Given the description of an element on the screen output the (x, y) to click on. 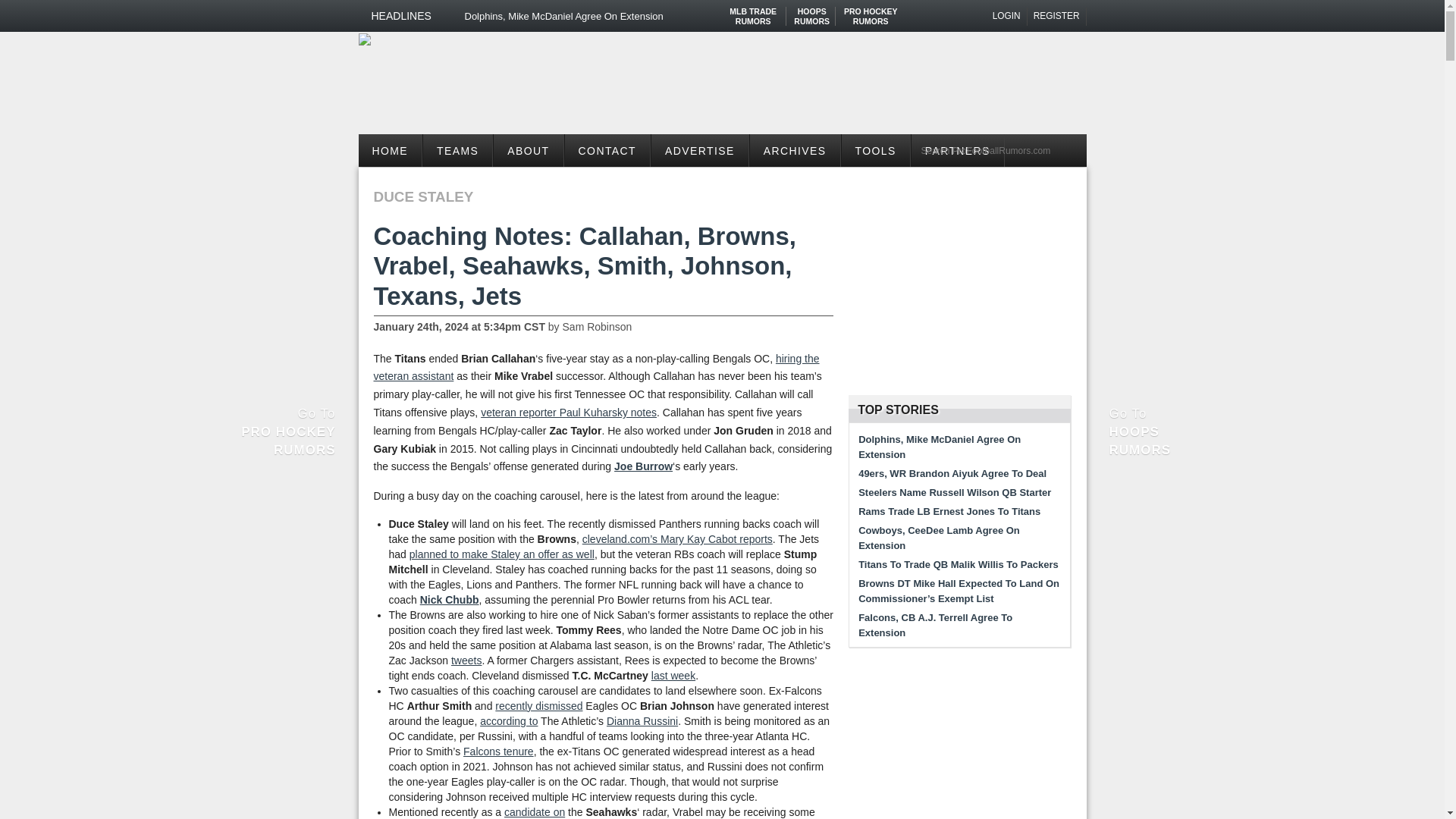
REGISTER (1056, 16)
TEAMS (457, 150)
HOME (390, 150)
Search for: (811, 11)
LOGIN (999, 150)
Dolphins, Mike McDaniel Agree On Extension (1007, 16)
Search (870, 11)
Pro Football Rumors (610, 16)
